Given the description of an element on the screen output the (x, y) to click on. 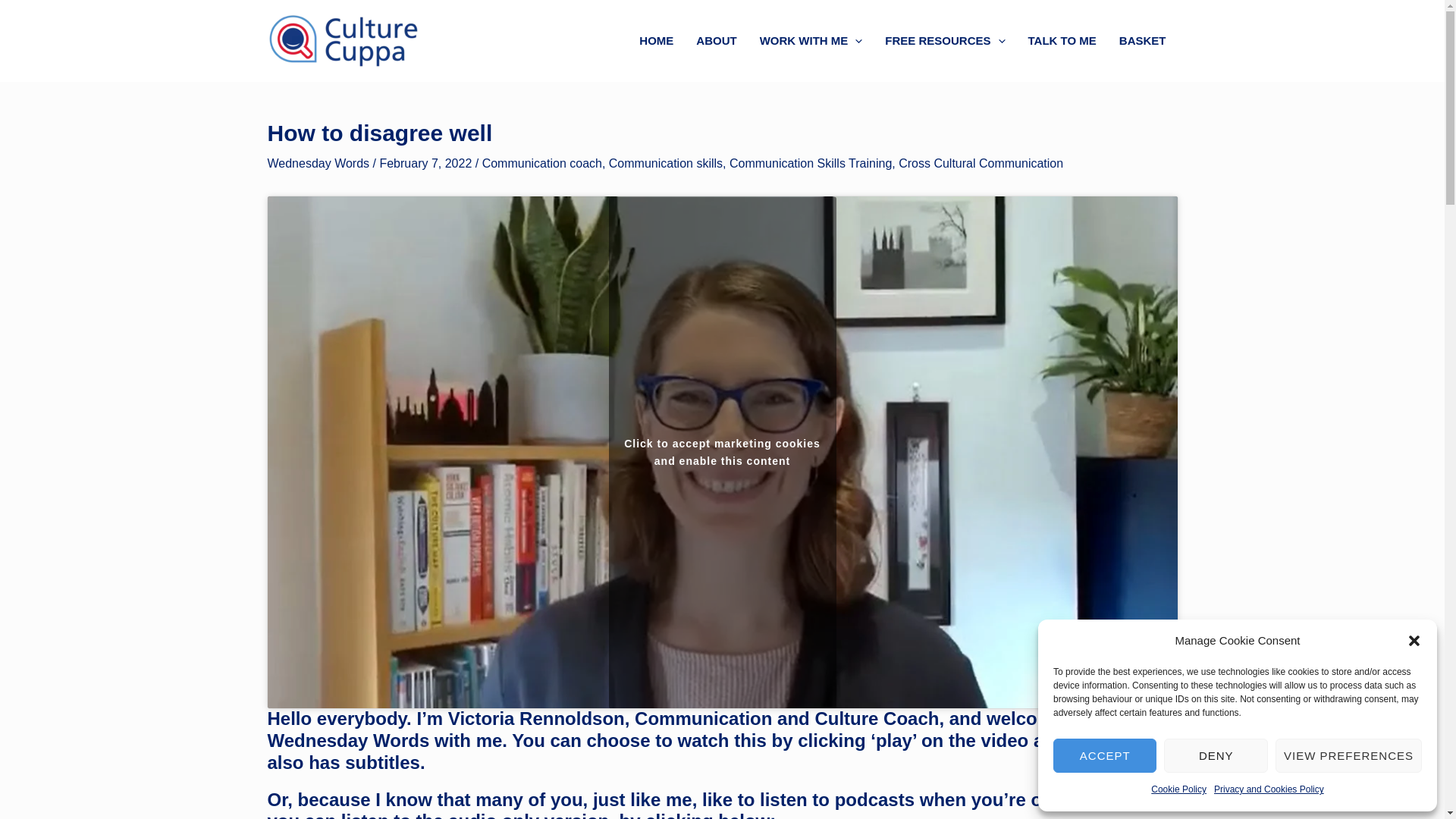
HOME (655, 40)
Communication coach (541, 163)
Cross Cultural Communication (980, 163)
TALK TO ME (1062, 40)
WORK WITH ME (811, 40)
Cookie Policy (1179, 790)
FREE RESOURCES (944, 40)
Privacy and Cookies Policy (1268, 790)
Communication skills (665, 163)
DENY (1214, 755)
ABOUT (716, 40)
Wednesday Words (317, 163)
ACCEPT (1104, 755)
Communication Skills Training (810, 163)
BASKET (1142, 40)
